Given the description of an element on the screen output the (x, y) to click on. 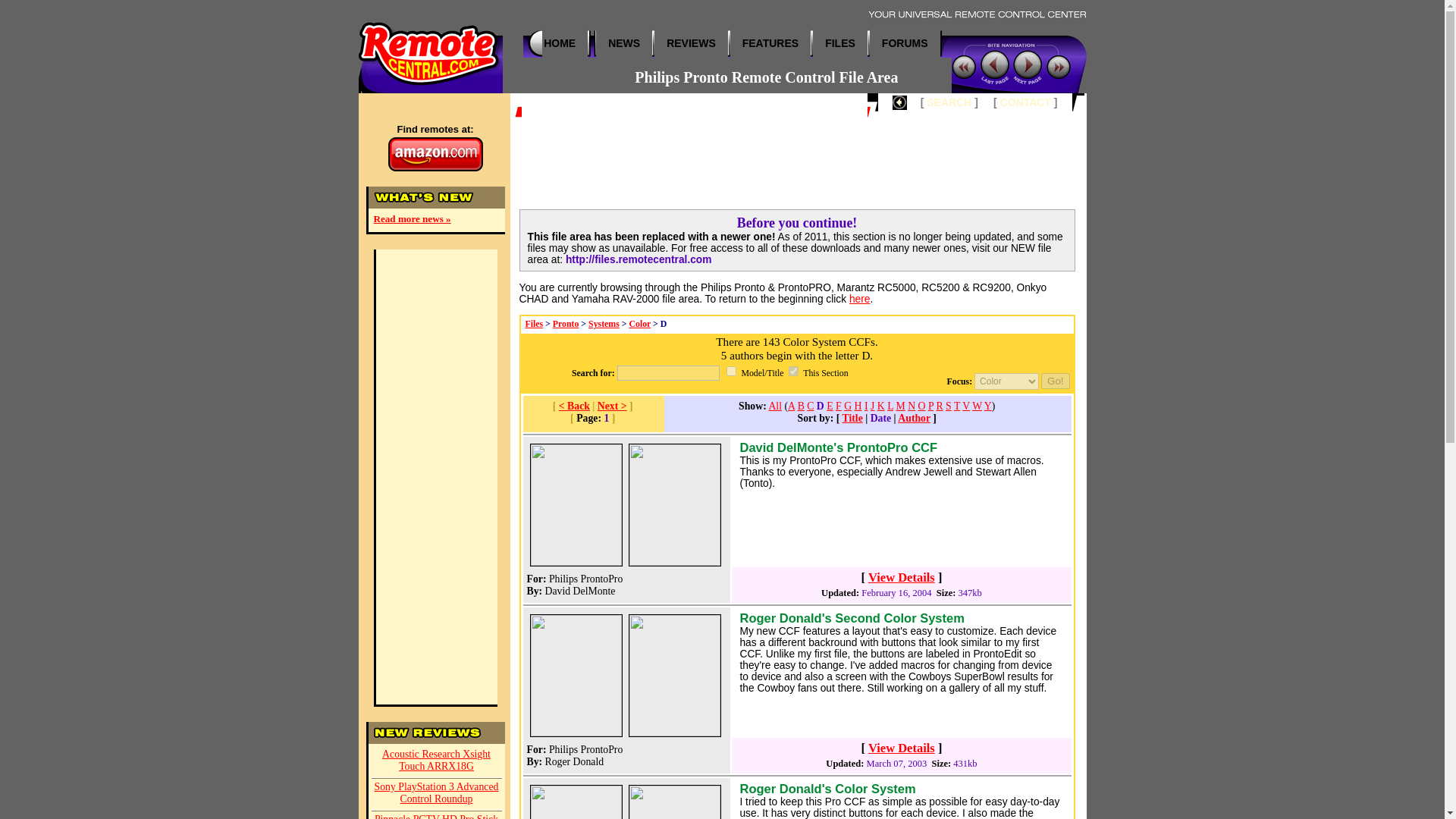
FEATURES (769, 42)
SEARCH (948, 102)
Exclusive in-depth reviews (691, 42)
Go! (1054, 381)
Pinnacle PCTV HD Pro Stick HDTV Tuner (436, 815)
Main site index (559, 42)
Find what you need (948, 102)
Pronto (566, 323)
Systems (604, 323)
Go! (1054, 381)
HOME (559, 42)
1 (731, 370)
Find remotes at: (434, 147)
here (859, 297)
Get in touch (1025, 102)
